Given the description of an element on the screen output the (x, y) to click on. 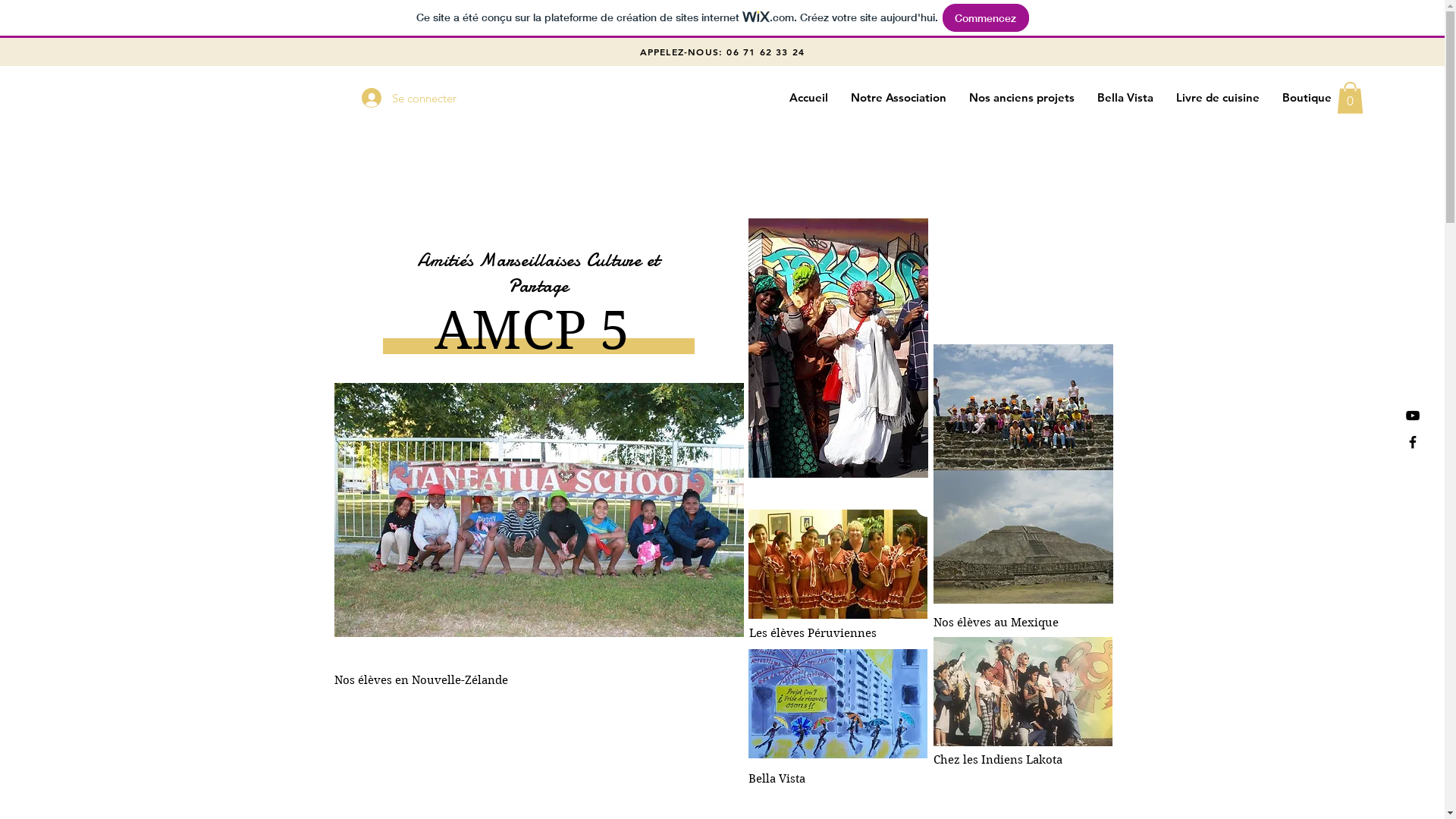
Boutique Element type: text (1306, 97)
0 Element type: text (1349, 97)
Nos anciens projets Element type: text (1021, 97)
Notre Association Element type: text (898, 97)
Bella Vista Element type: text (1124, 97)
Accueil Element type: text (808, 97)
Se connecter Element type: text (395, 97)
Livre de cuisine Element type: text (1217, 97)
